Given the description of an element on the screen output the (x, y) to click on. 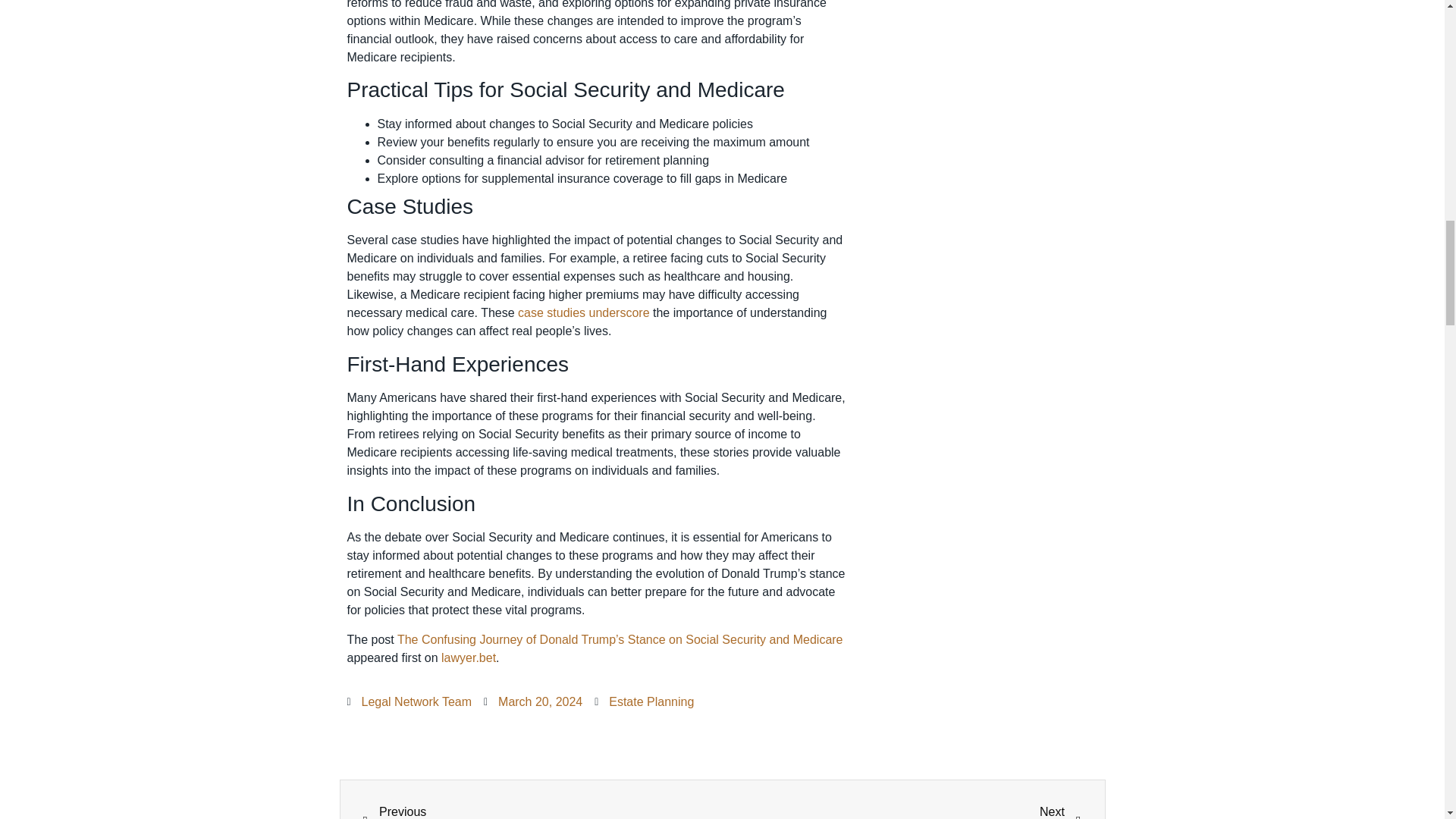
lawyer.bet (468, 657)
case studies underscore (583, 312)
Estate Planning (651, 701)
March 20, 2024 (532, 701)
